Given the description of an element on the screen output the (x, y) to click on. 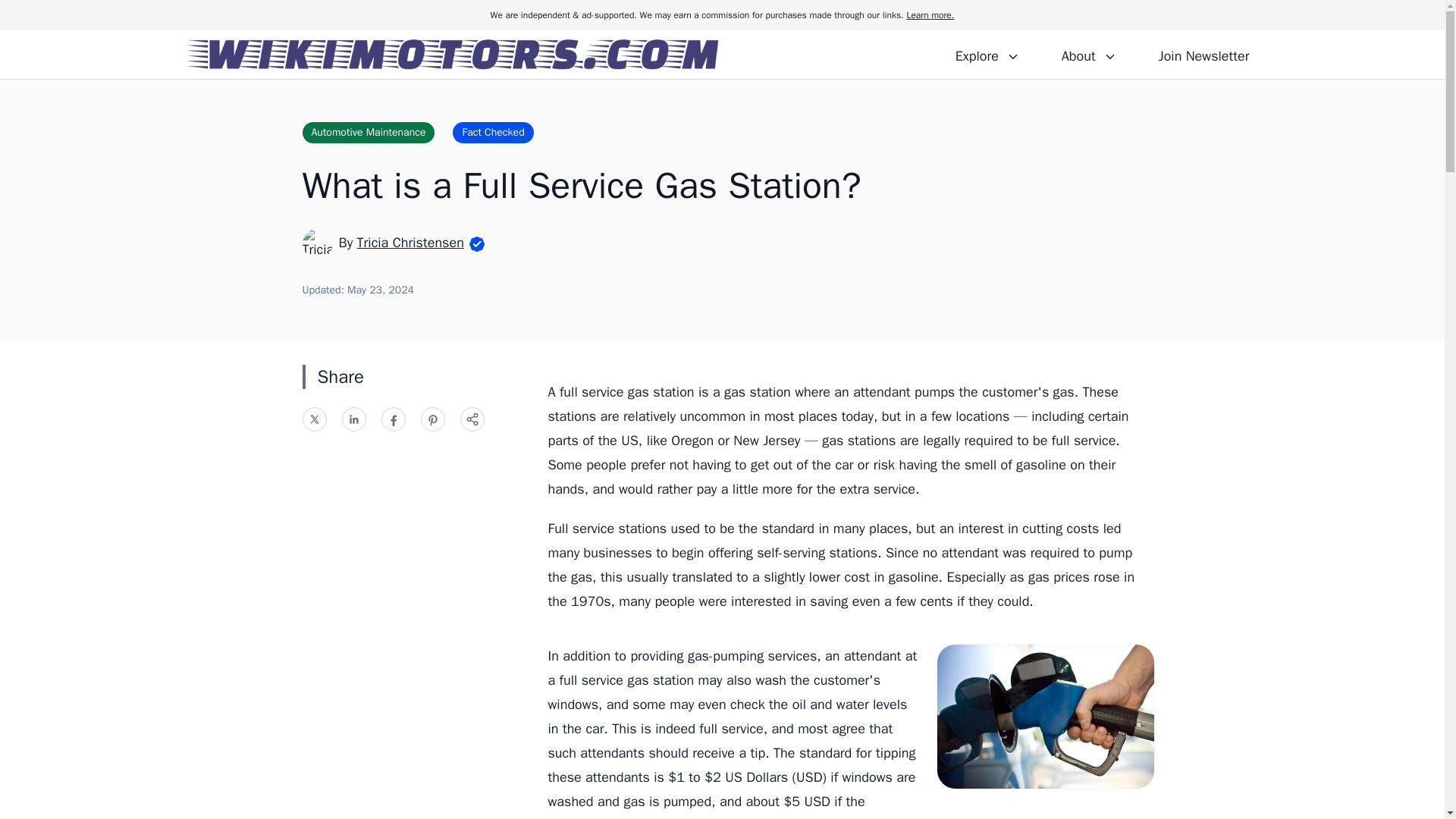
Explore (986, 54)
Join Newsletter (1202, 54)
Tricia Christensen (410, 242)
Automotive Maintenance (367, 132)
Learn more. (929, 15)
About (1088, 54)
Fact Checked (492, 132)
